Given the description of an element on the screen output the (x, y) to click on. 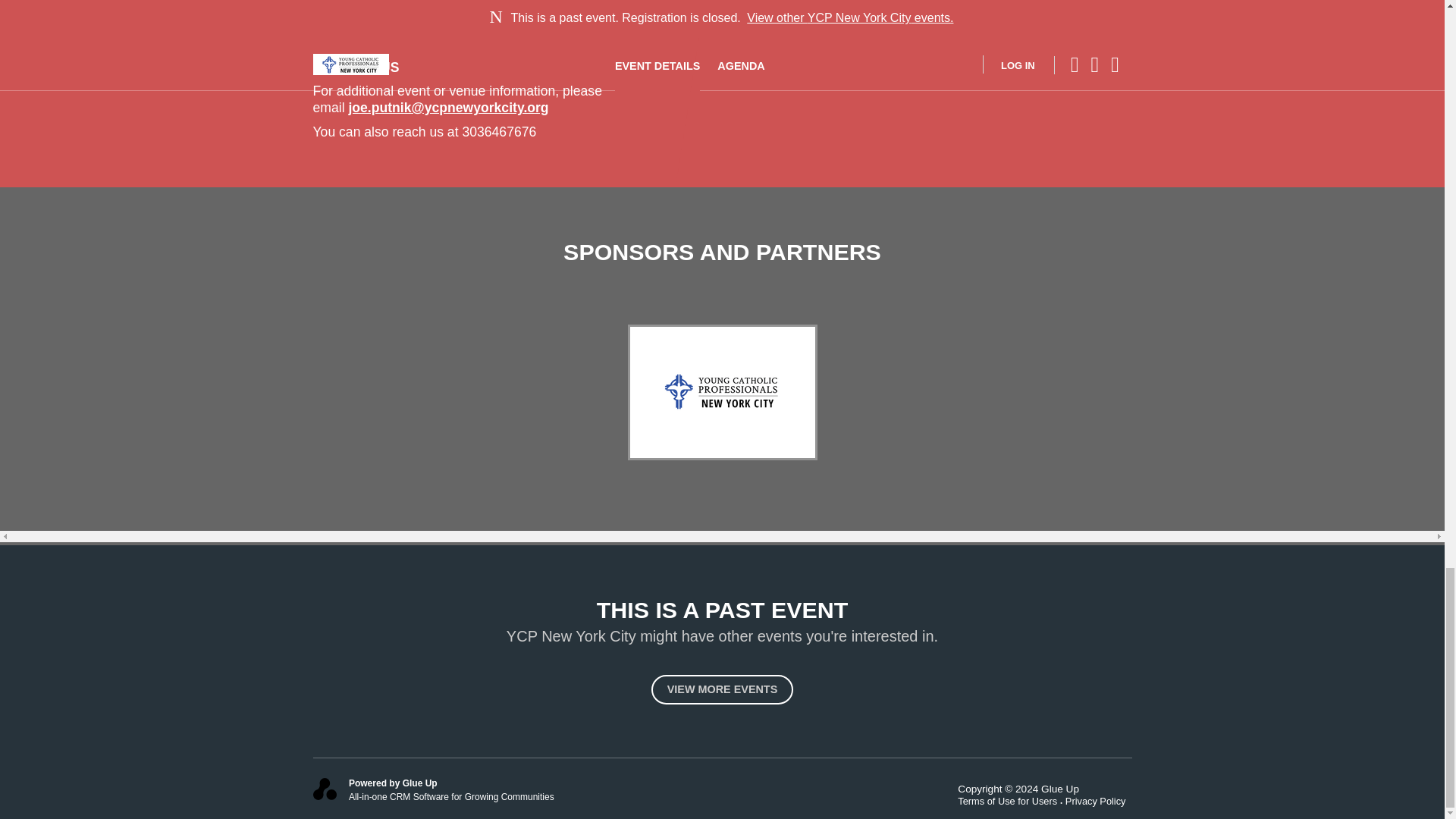
SEE ROUTE (358, 13)
Privacy Policy (1098, 800)
Terms of Use for Users (1011, 800)
VIEW MORE EVENTS (721, 689)
